Given the description of an element on the screen output the (x, y) to click on. 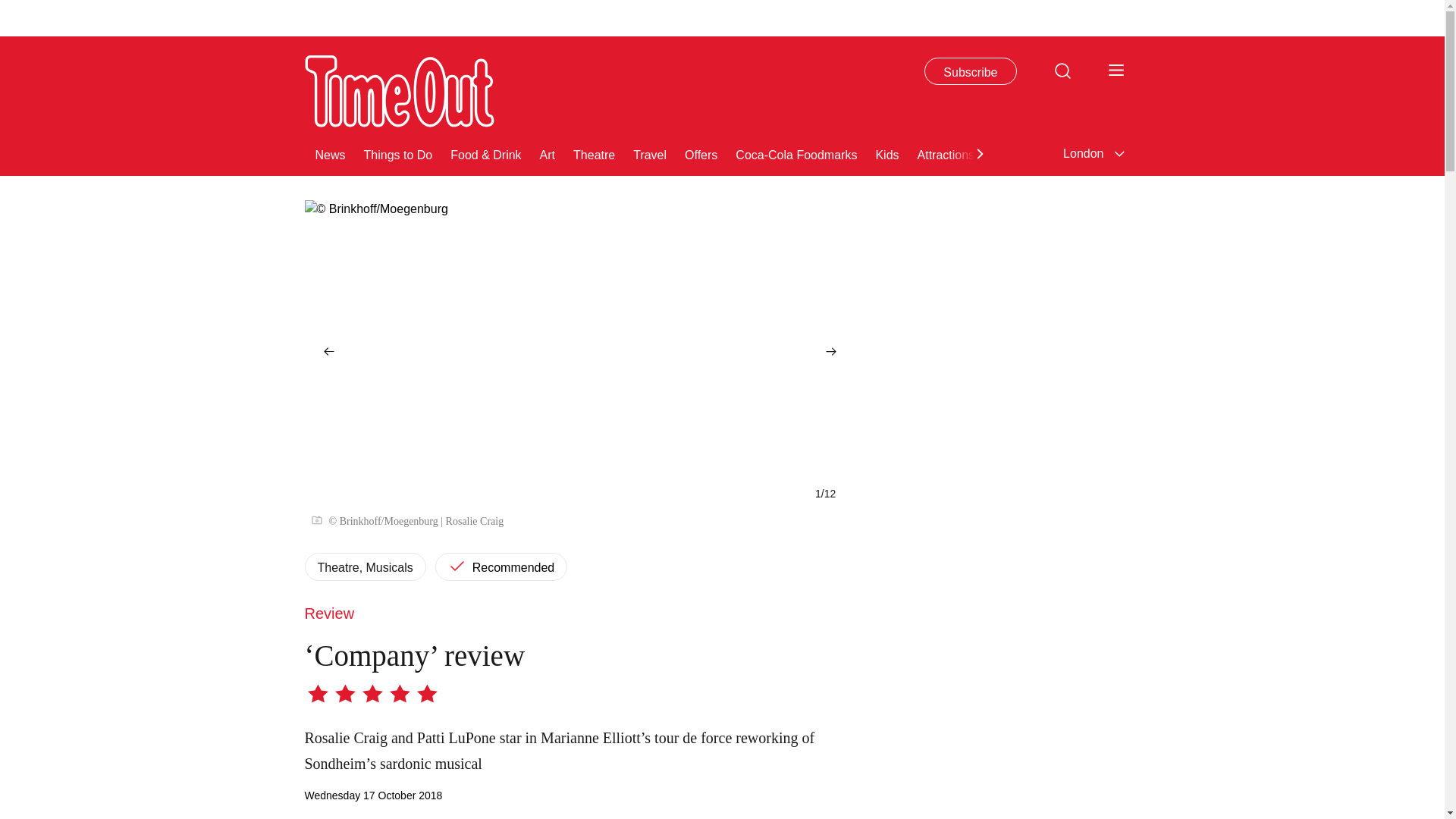
Theatre (593, 153)
Subscribe (970, 71)
Offers (700, 153)
Things to Do (397, 153)
Go to the content (10, 7)
Travel (649, 153)
Search (1061, 69)
Feeling Spontaneous? (1329, 153)
Museums (1018, 153)
Hotels (1233, 153)
